Given the description of an element on the screen output the (x, y) to click on. 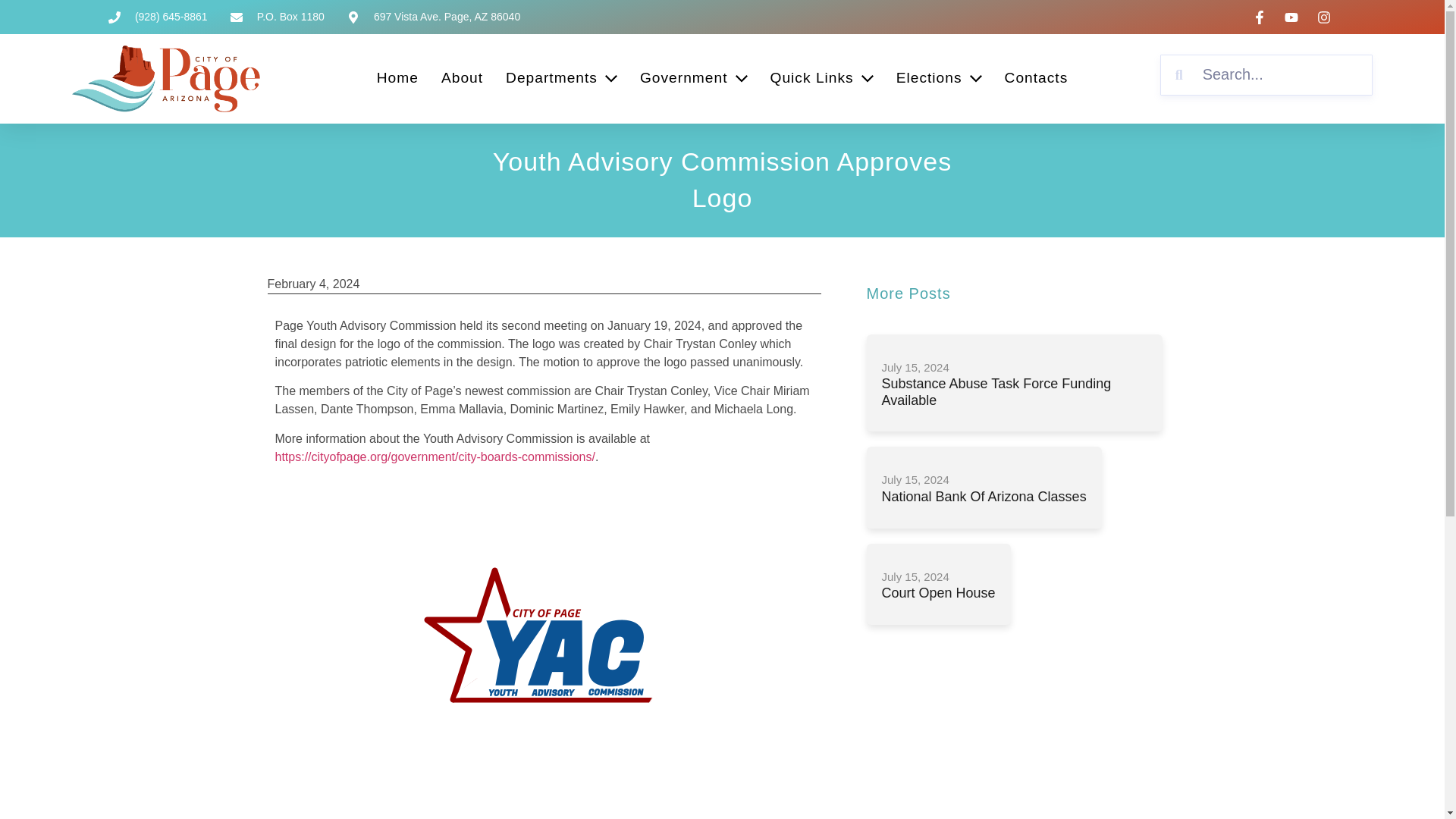
Departments (561, 78)
Home (397, 78)
About (462, 78)
